Given the description of an element on the screen output the (x, y) to click on. 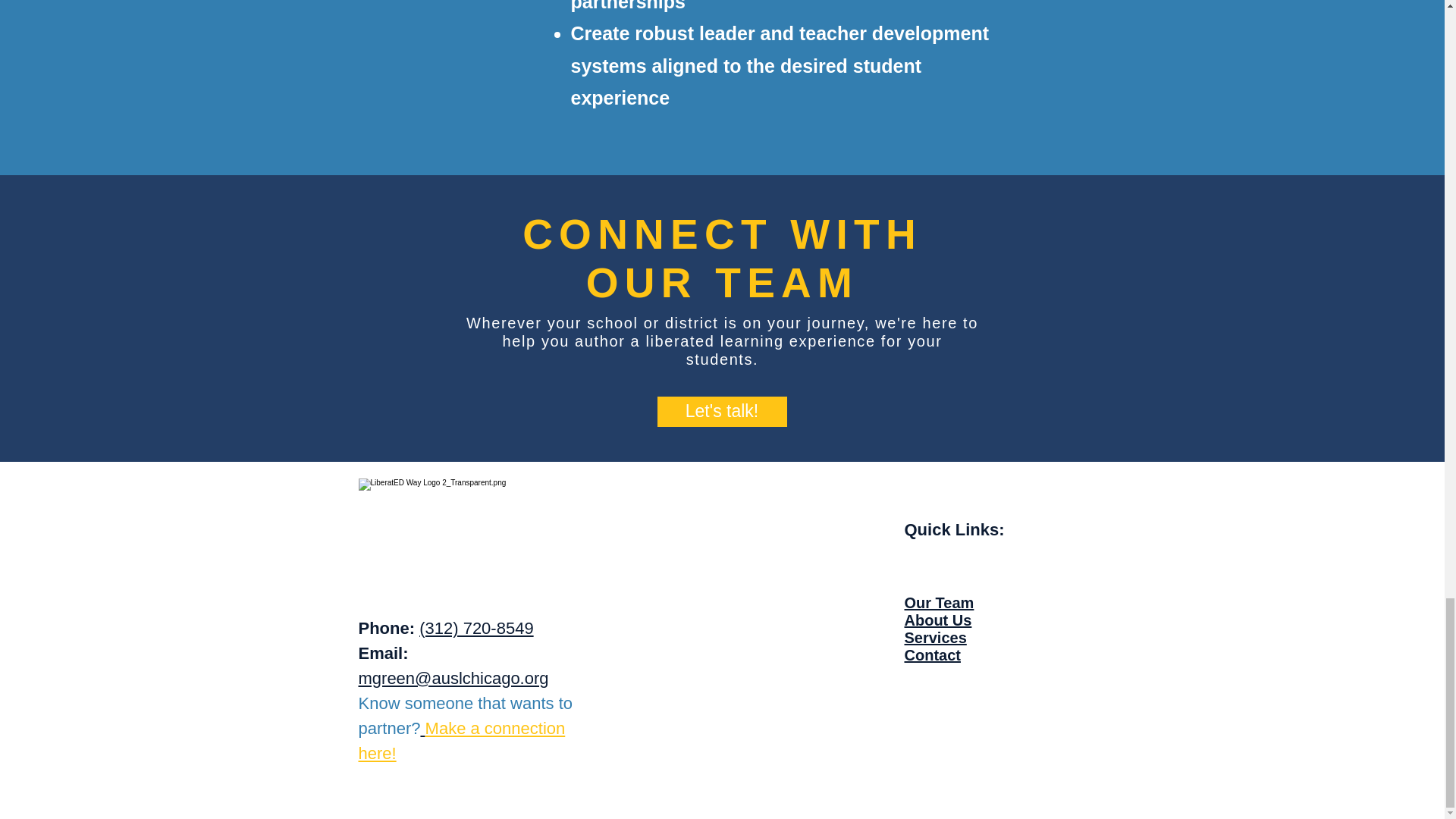
Let's talk! (721, 410)
Services (935, 637)
Contact (931, 654)
About Us (937, 619)
Make a connection here! (461, 740)
Our Team (939, 602)
